Given the description of an element on the screen output the (x, y) to click on. 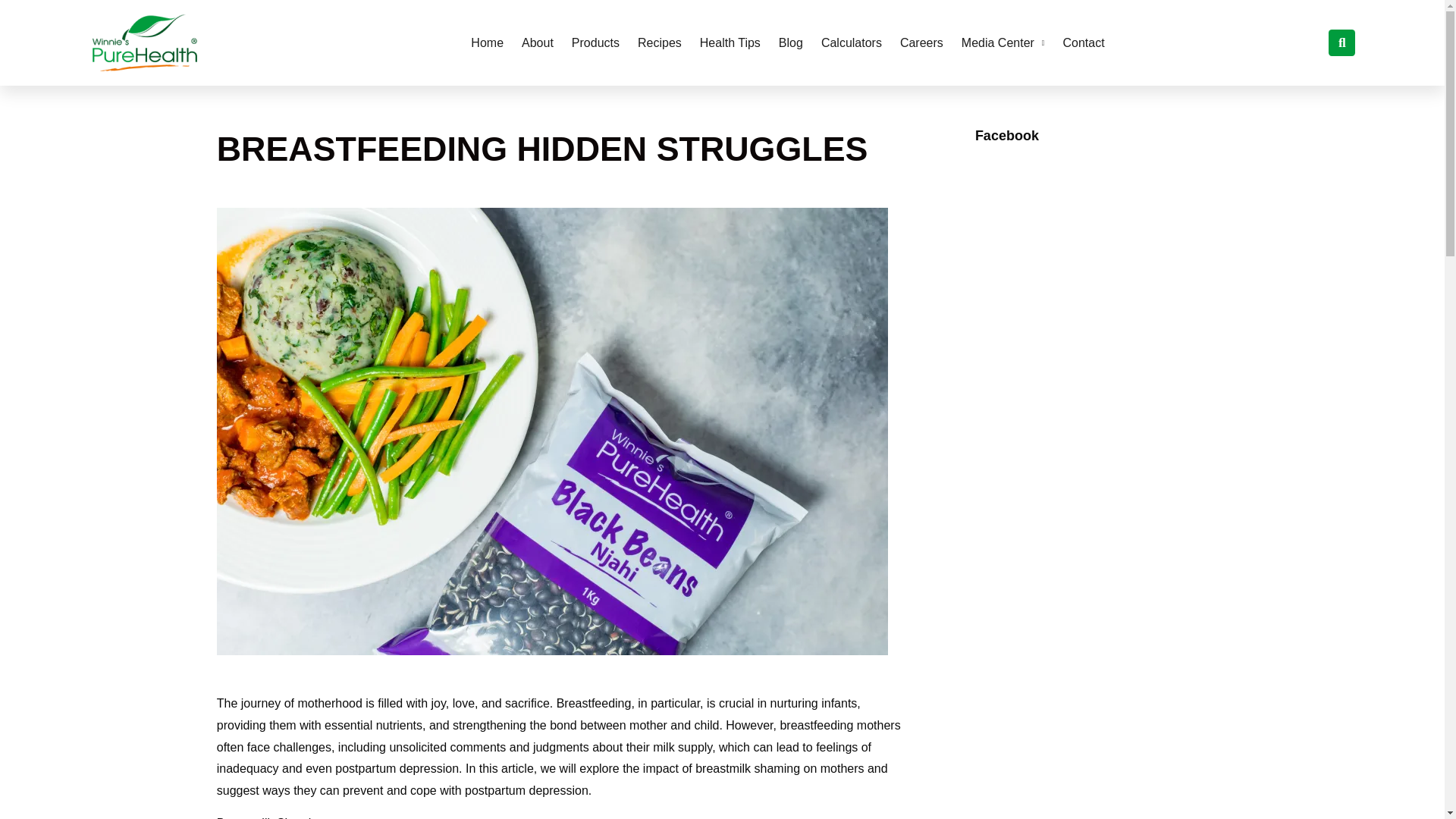
Contact (1083, 42)
Blog (790, 42)
Health Tips (729, 42)
Home (486, 42)
Careers (922, 42)
Media Center (1002, 42)
Winnies PureHealth Logo Web (144, 42)
Calculators (850, 42)
About (537, 42)
